Given the description of an element on the screen output the (x, y) to click on. 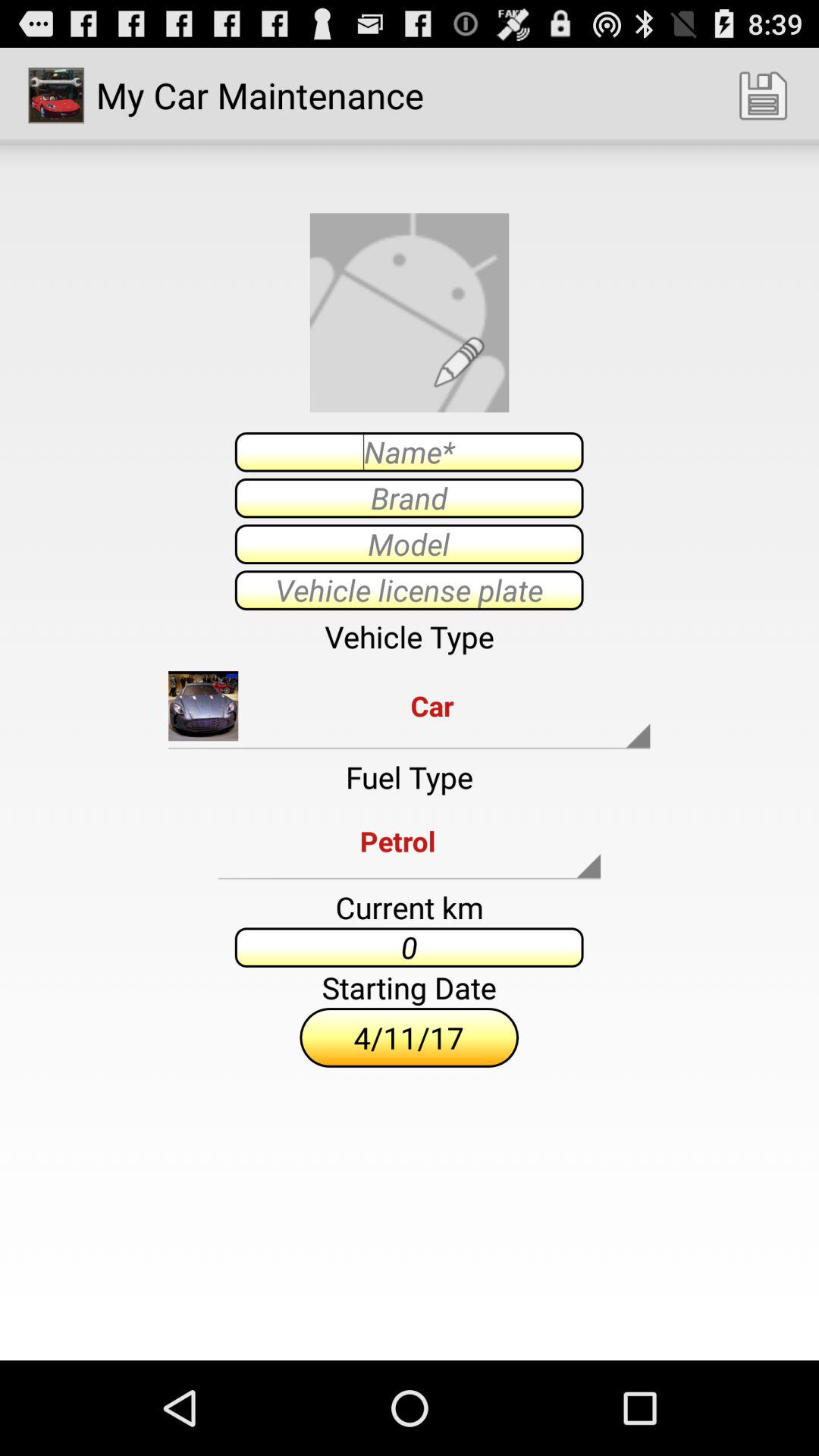
tap to select (408, 544)
